Given the description of an element on the screen output the (x, y) to click on. 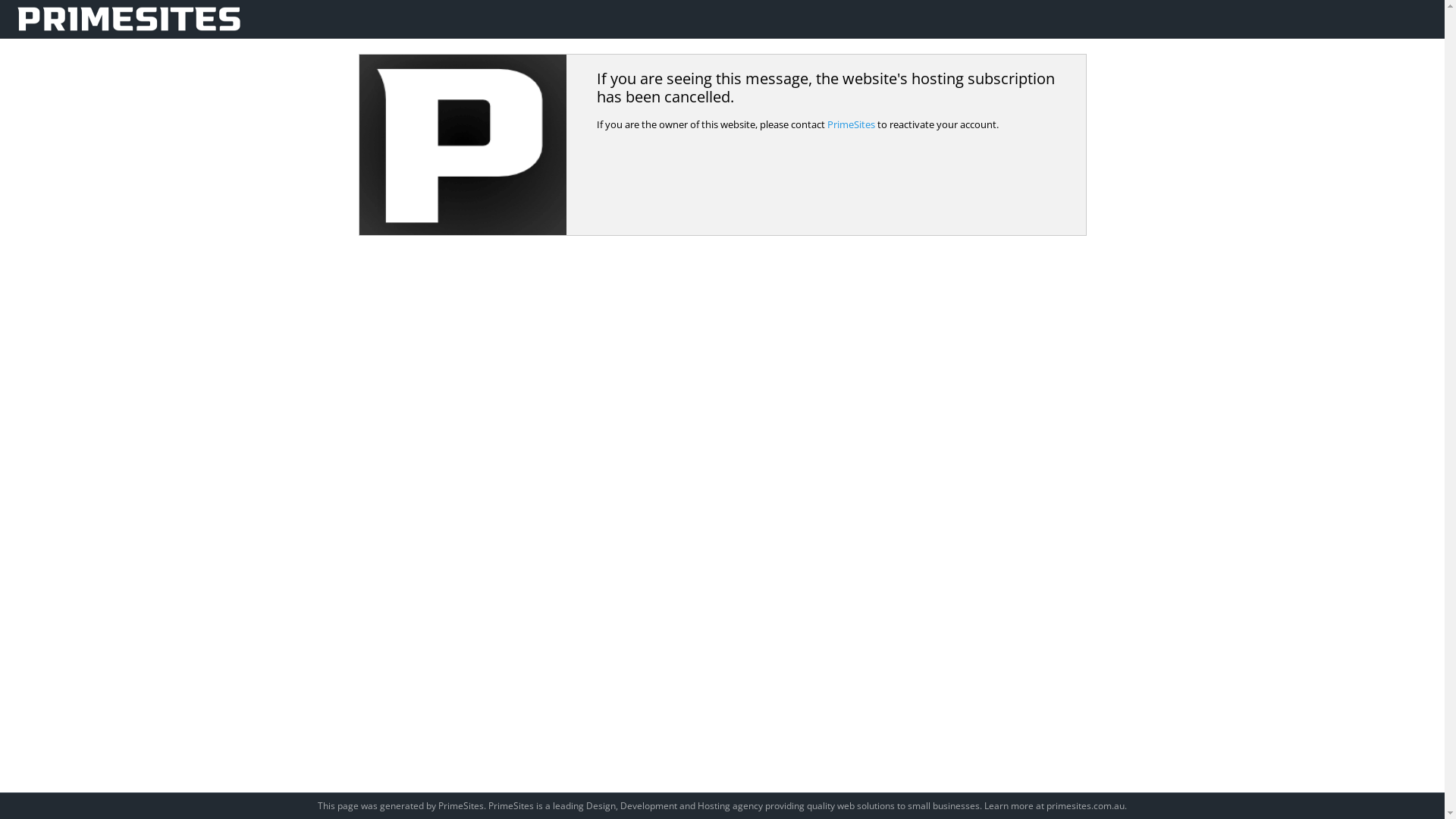
PrimeSites Element type: text (850, 124)
primesites.com.au Element type: text (1085, 805)
